Given the description of an element on the screen output the (x, y) to click on. 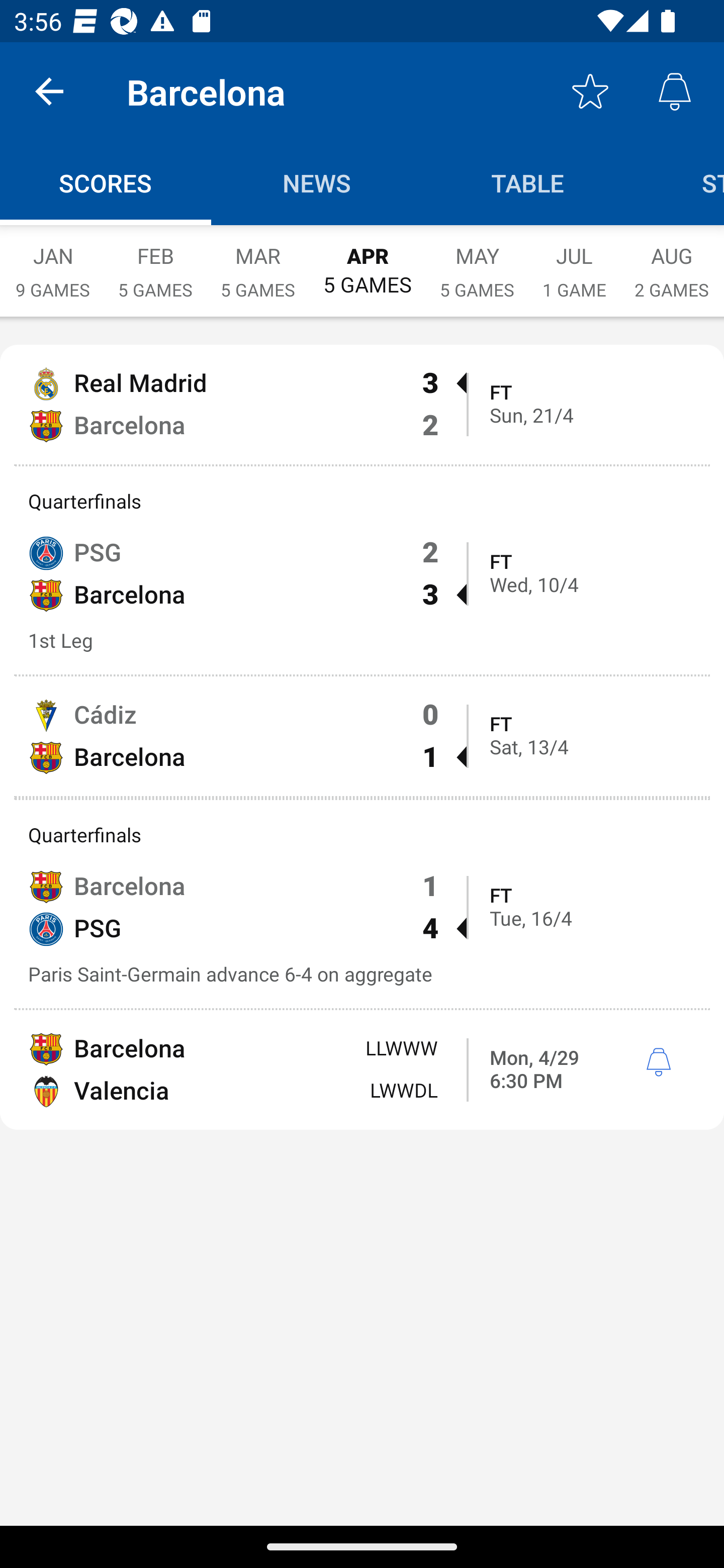
back.button (49, 90)
Favorite toggle (590, 90)
Alerts (674, 90)
News NEWS (316, 183)
Table TABLE (527, 183)
JAN 9 GAMES (52, 262)
FEB 5 GAMES (155, 262)
MAR 5 GAMES (257, 262)
APR 5 GAMES (367, 261)
MAY 5 GAMES (476, 262)
JUL 1 GAME (574, 262)
AUG 2 GAMES (671, 262)
Real Madrid 3  Barcelona 2 FT Sun, 21/4 (362, 404)
Cádiz 0 Barcelona 1  FT Sat, 13/4 (362, 735)
Barcelona LLWWW Valencia LWWDL Mon, 4/29 6:30 PM í (362, 1069)
í (658, 1062)
